Given the description of an element on the screen output the (x, y) to click on. 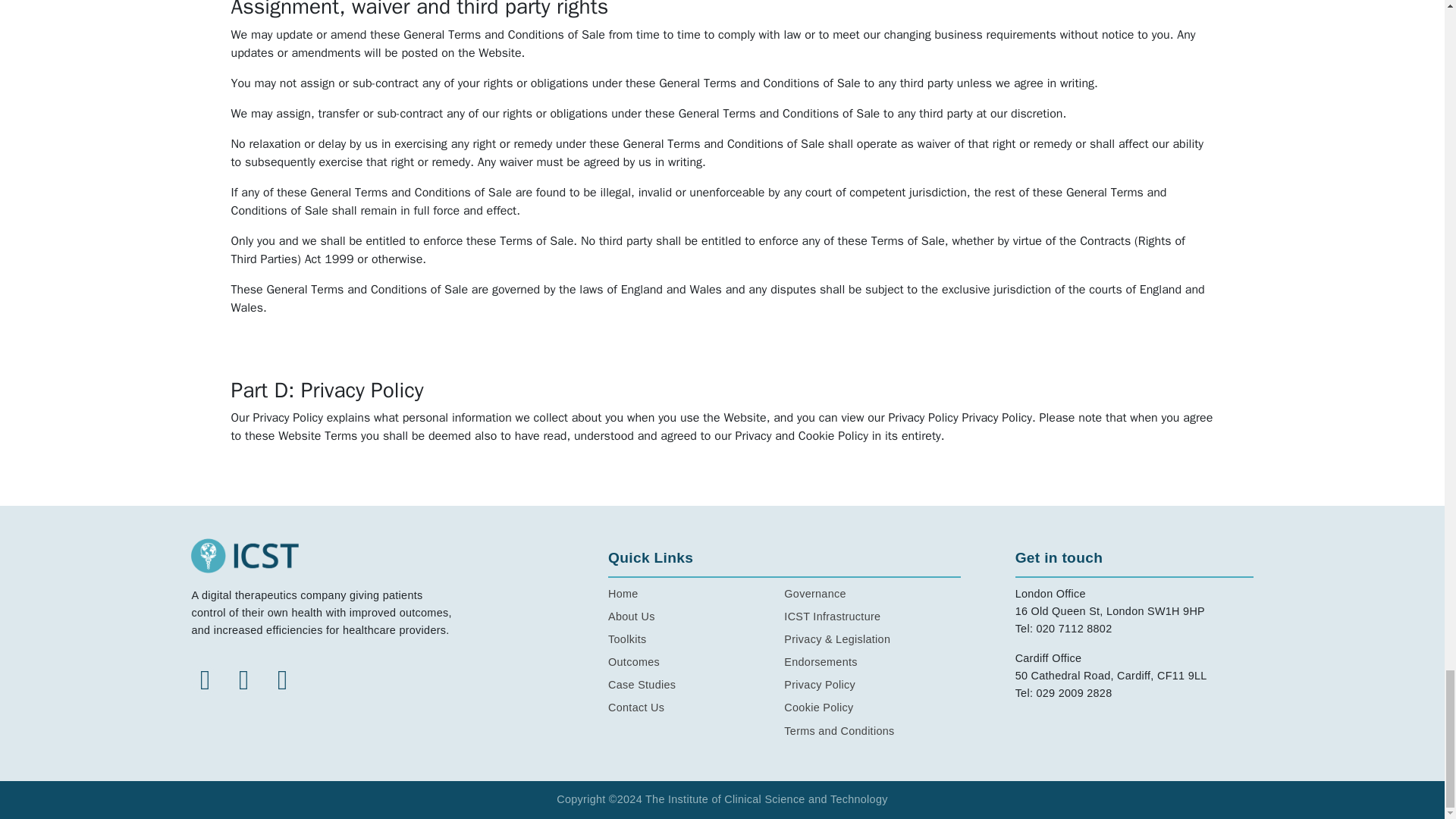
ICST Infrastructure (871, 616)
About Us (696, 616)
Toolkits (696, 639)
Cookie Policy (871, 707)
Case Studies (696, 684)
Terms and Conditions (871, 731)
Contact Us (696, 707)
Privacy Policy (871, 684)
Outcomes (696, 661)
Endorsements (871, 661)
